Given the description of an element on the screen output the (x, y) to click on. 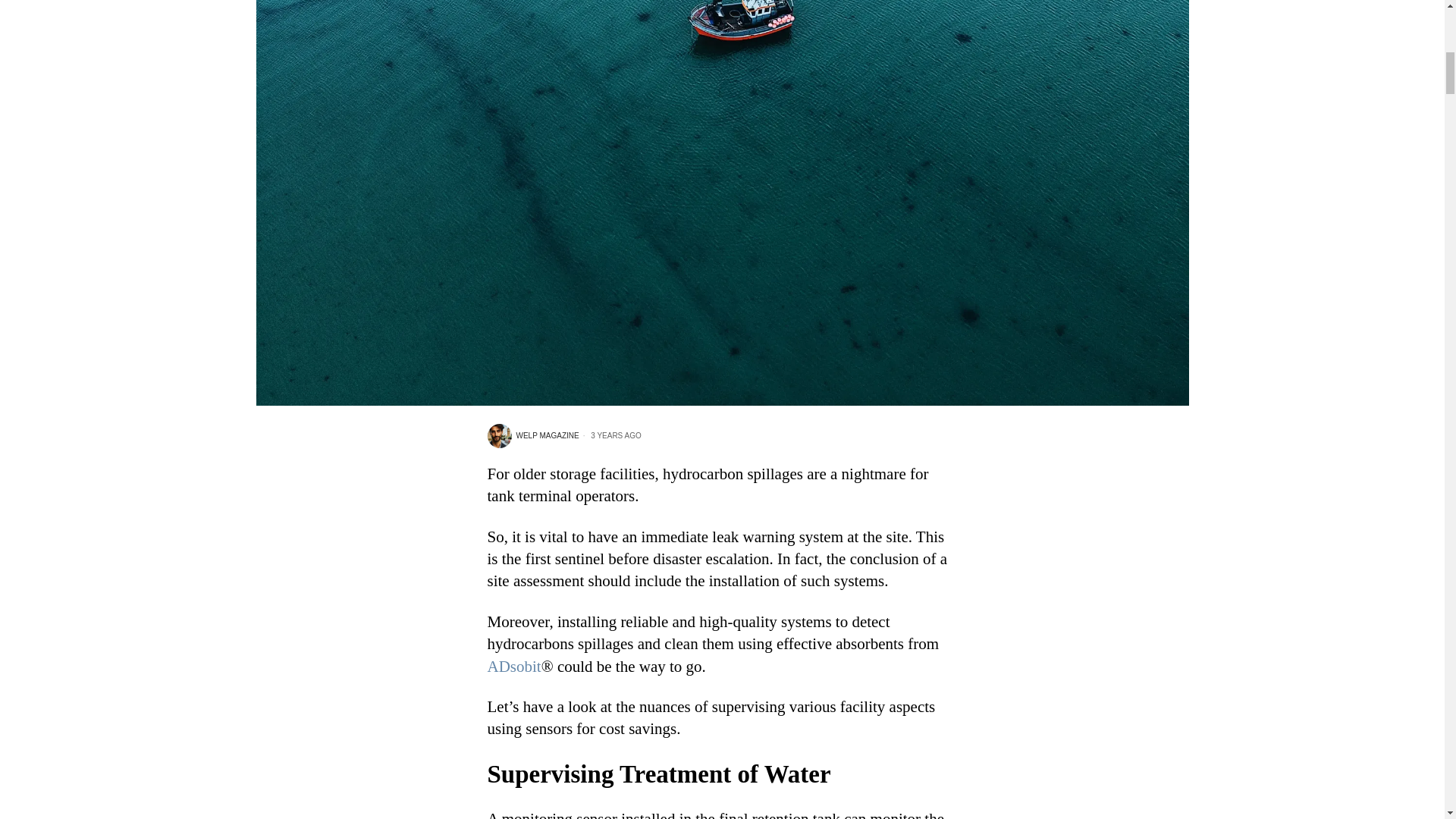
WELP MAGAZINE (532, 435)
03 Sep, 2021 22:01:42 (610, 435)
ADsobit (513, 666)
